Given the description of an element on the screen output the (x, y) to click on. 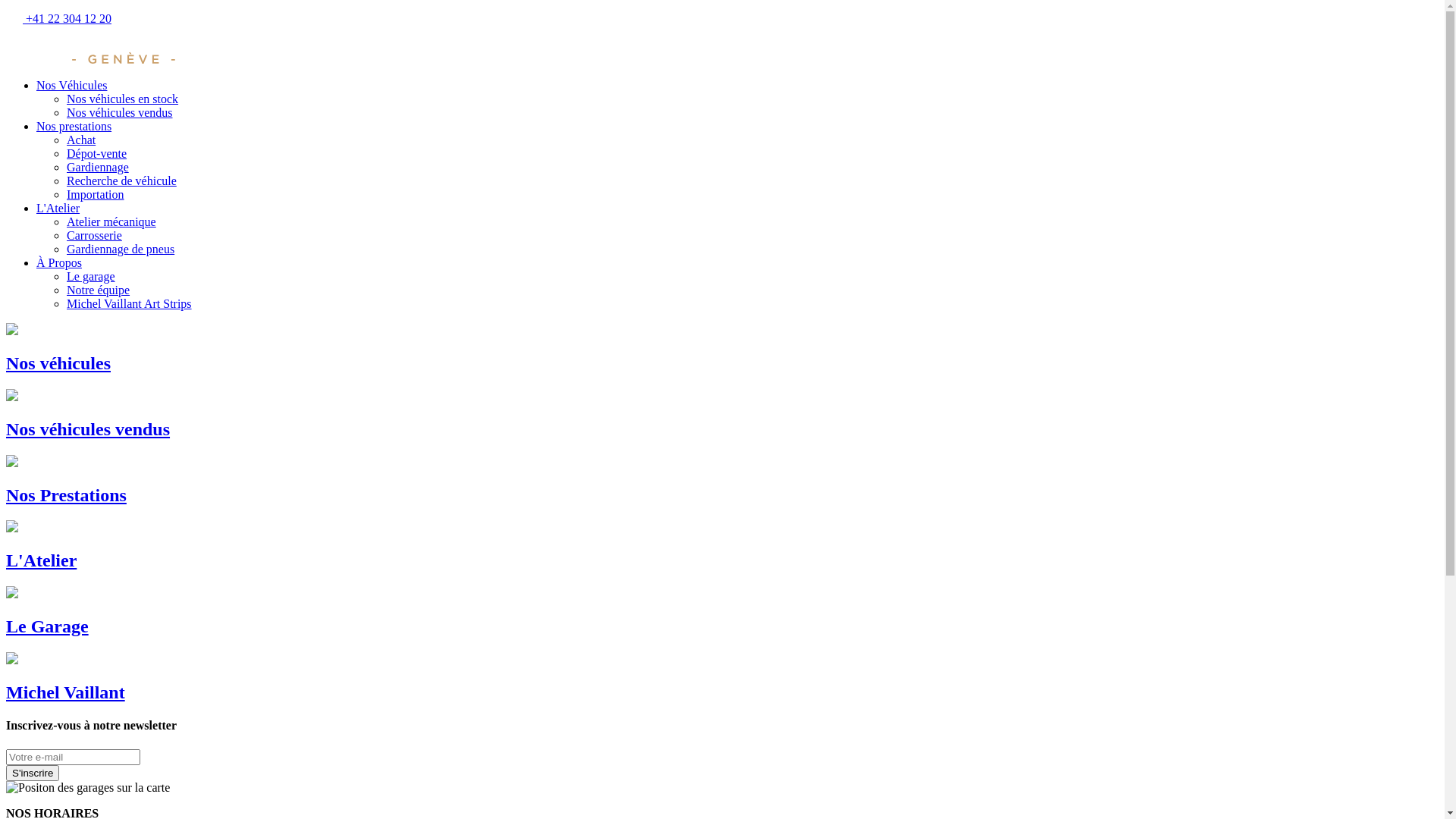
L'Atelier Element type: text (57, 207)
Le garage Element type: text (90, 275)
Nos prestations Element type: text (73, 125)
Nos Prestations Element type: text (722, 480)
Gardiennage Element type: text (97, 166)
+41 22 304 12 20 Element type: text (58, 18)
Michel Vaillant Element type: text (722, 677)
Le Garage Element type: text (722, 611)
Achat Element type: text (80, 139)
L'Atelier Element type: text (722, 545)
Importation Element type: text (95, 194)
Michel Vaillant Art Strips Element type: text (128, 303)
Gardiennage de pneus Element type: text (120, 248)
S'inscrire Element type: text (32, 772)
Carrosserie Element type: text (94, 235)
